Given the description of an element on the screen output the (x, y) to click on. 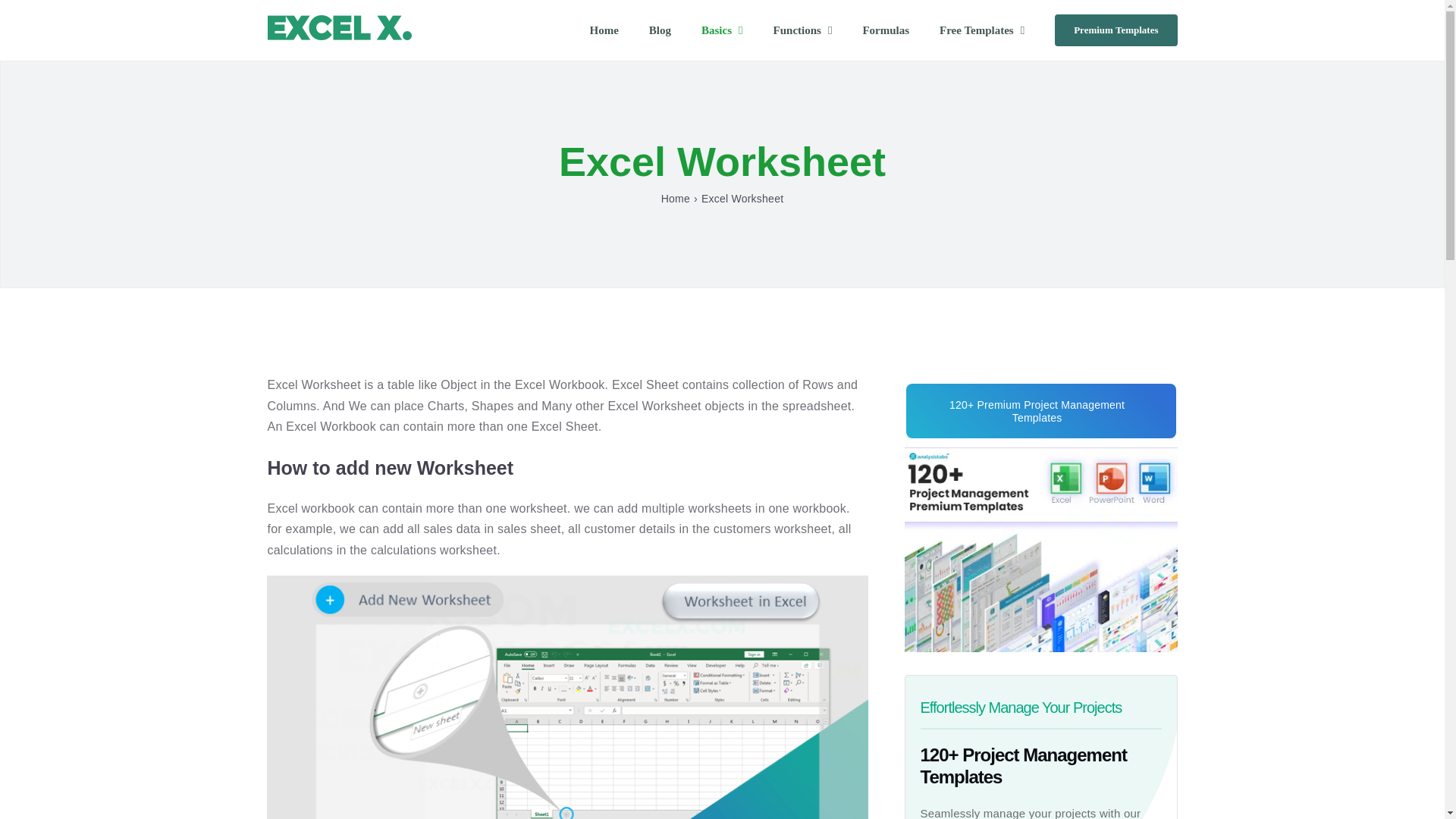
Formulas (884, 30)
Free Templates (982, 30)
Functions (802, 30)
Premium Templates (1115, 30)
Basics (721, 30)
